Given the description of an element on the screen output the (x, y) to click on. 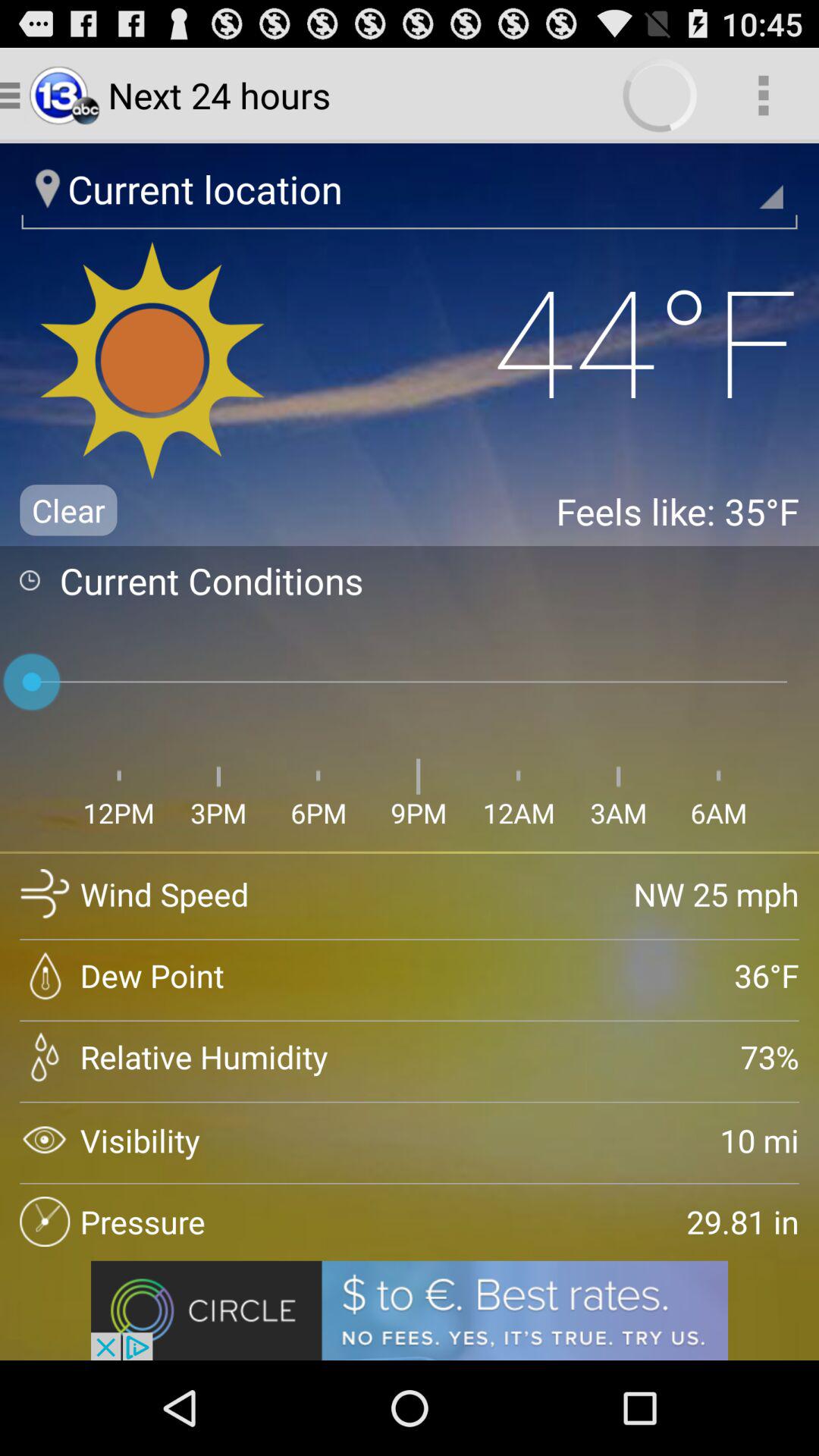
advertisement (409, 1310)
